Given the description of an element on the screen output the (x, y) to click on. 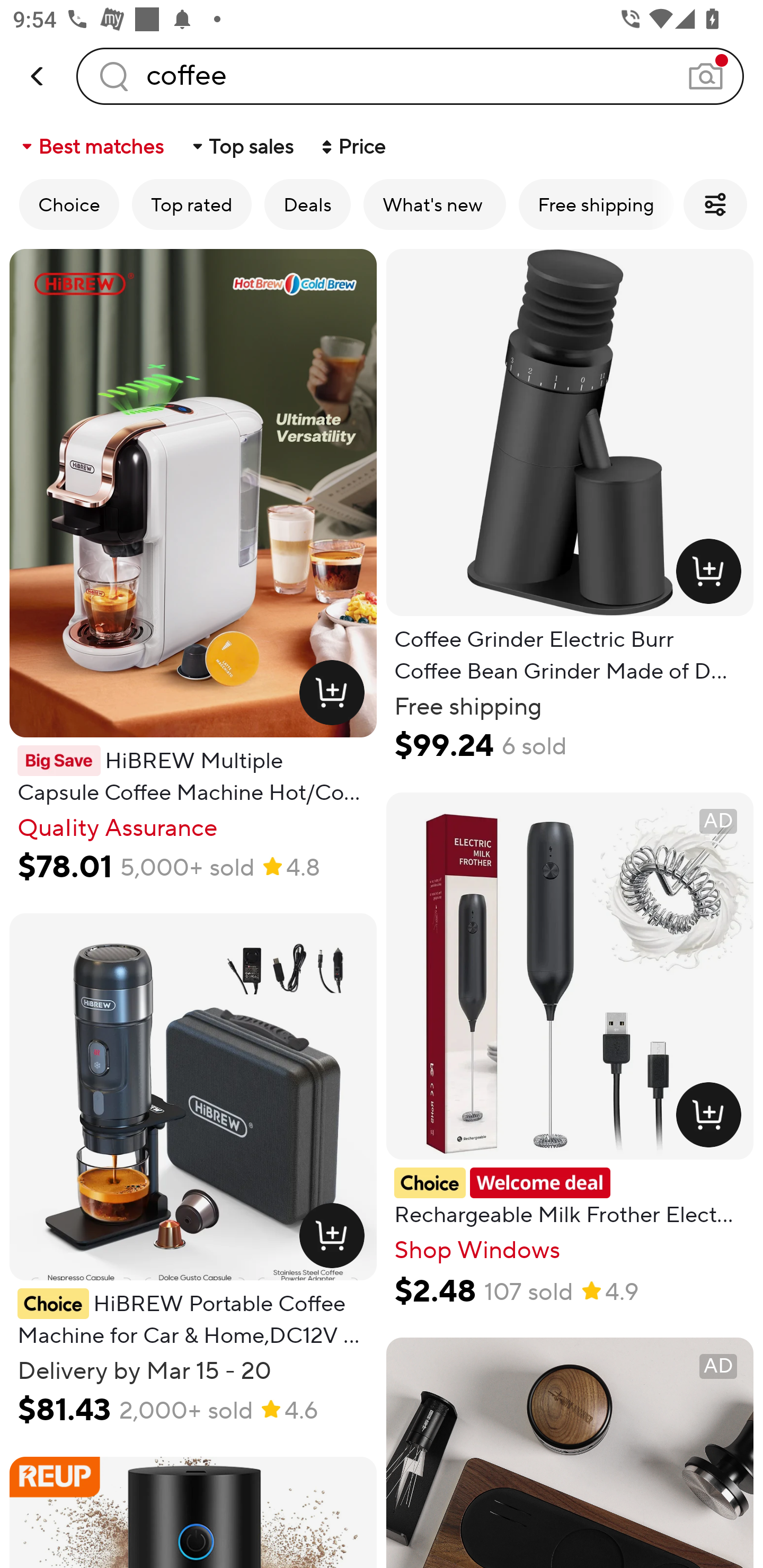
back (38, 75)
coffee Search query (409, 76)
coffee Search query (409, 76)
Best matches (91, 146)
Top sales (241, 146)
Price (352, 146)
Choice (69, 204)
Top rated (191, 204)
Deals (307, 204)
What's new  (434, 204)
Free shipping (595, 204)
